Given the description of an element on the screen output the (x, y) to click on. 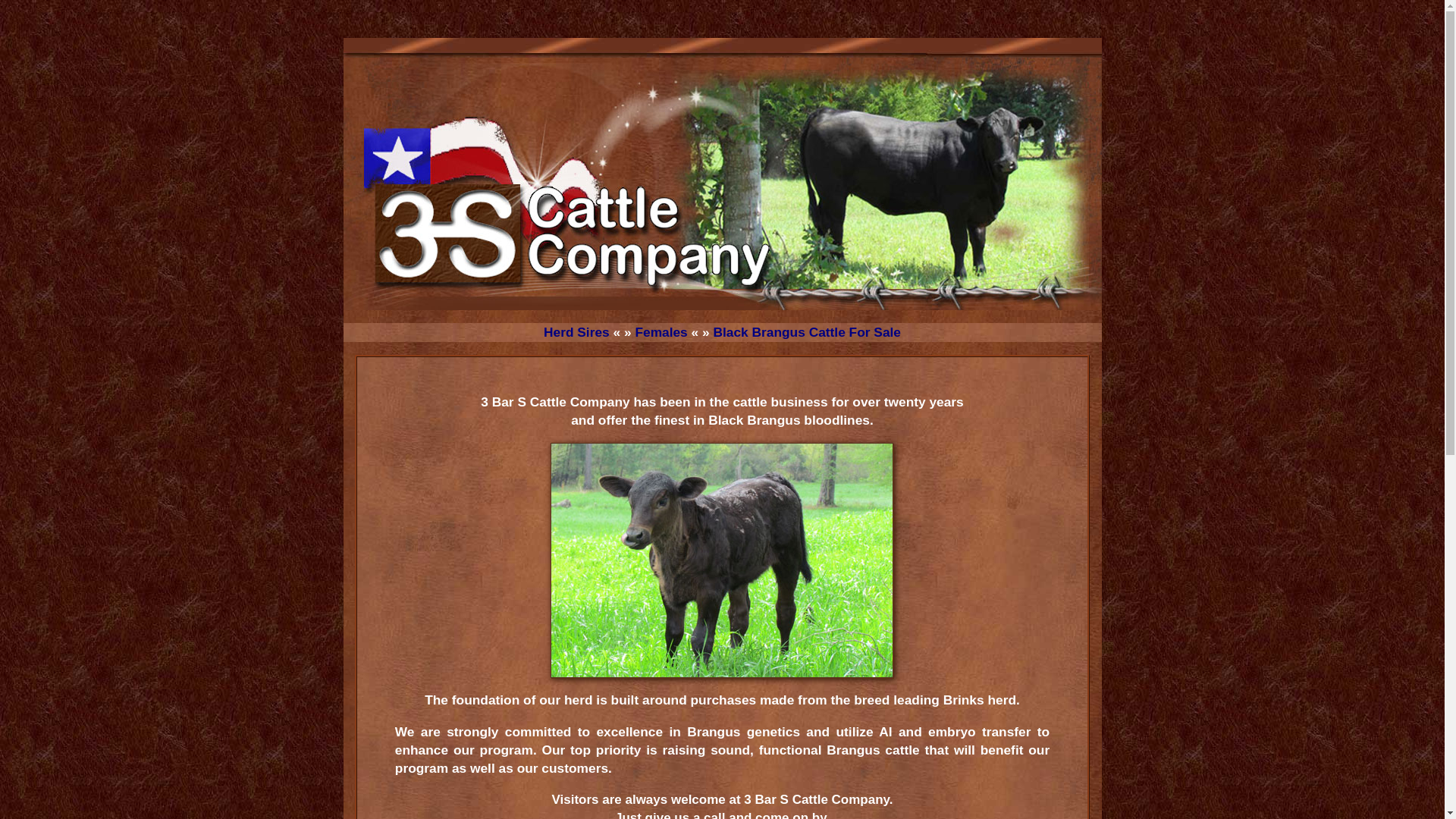
Herd Sires Element type: text (576, 331)
Females Element type: text (660, 331)
Black Brangus Cattle For Sale Element type: text (806, 331)
